Given the description of an element on the screen output the (x, y) to click on. 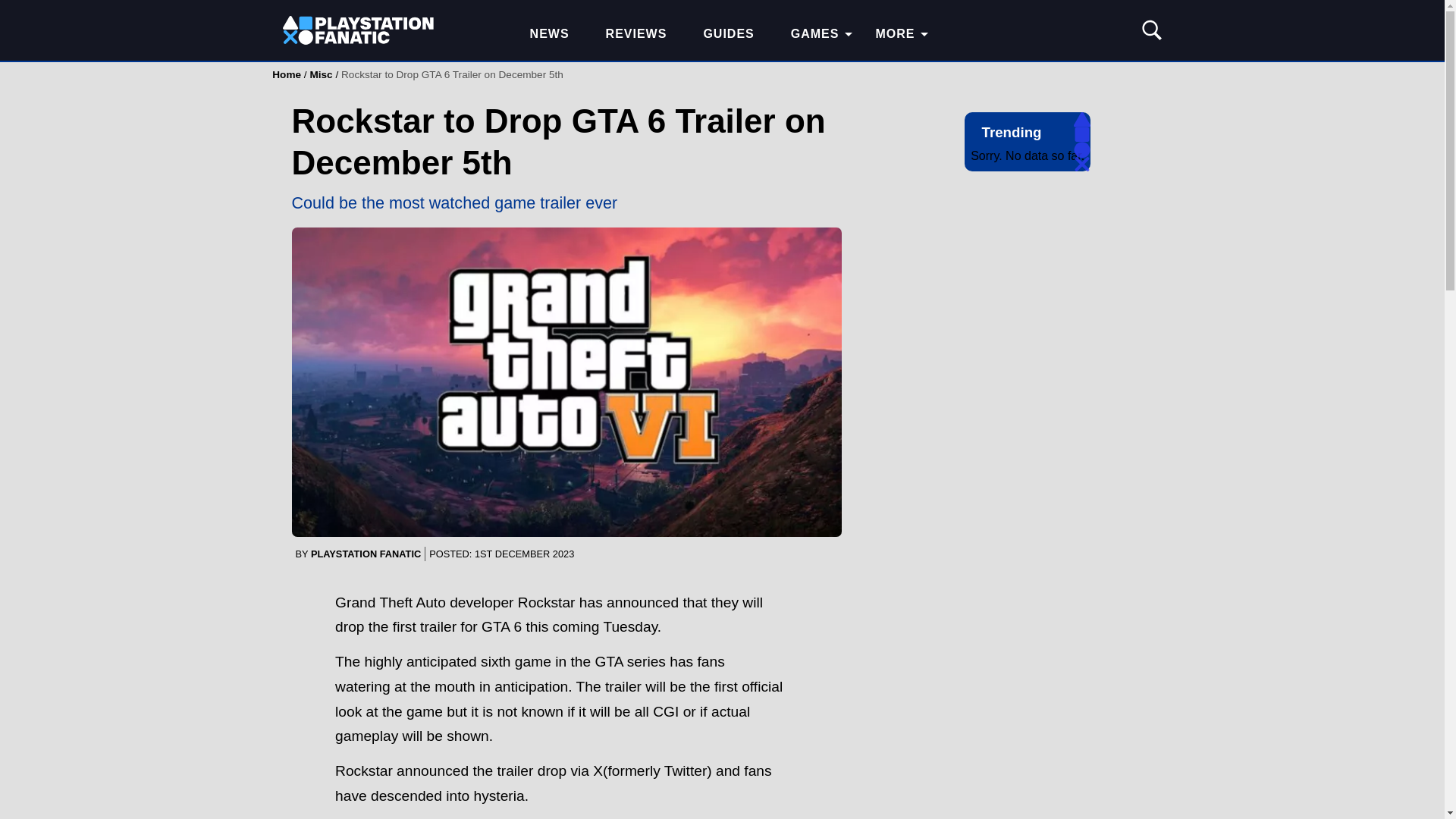
GAMES (815, 34)
GUIDES (727, 34)
Home (286, 74)
REVIEWS (636, 34)
Misc (319, 74)
PLAYSTATION FANATIC (365, 553)
NEWS (550, 34)
PlayStation Fanatic (357, 34)
Open Search (1150, 30)
MORE (895, 34)
